Given the description of an element on the screen output the (x, y) to click on. 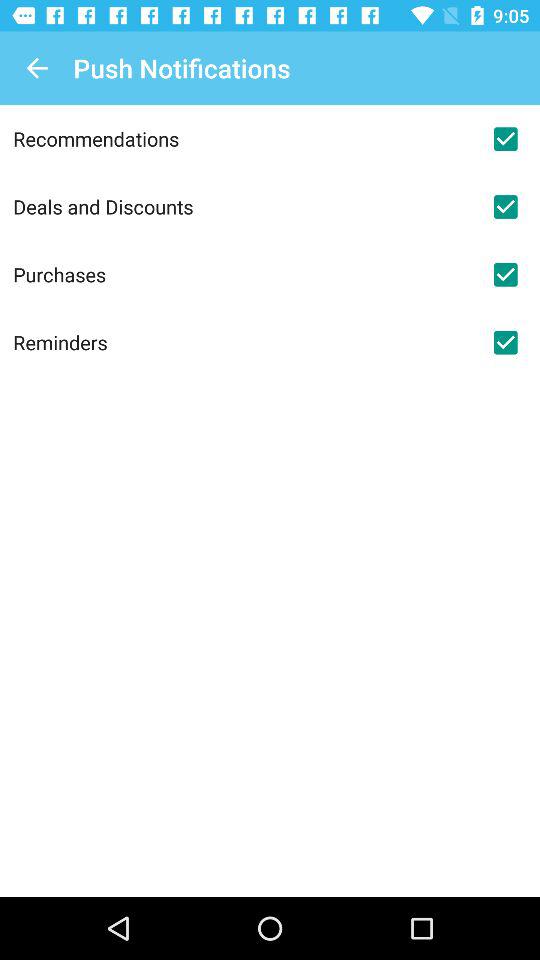
click recommendations (242, 138)
